Given the description of an element on the screen output the (x, y) to click on. 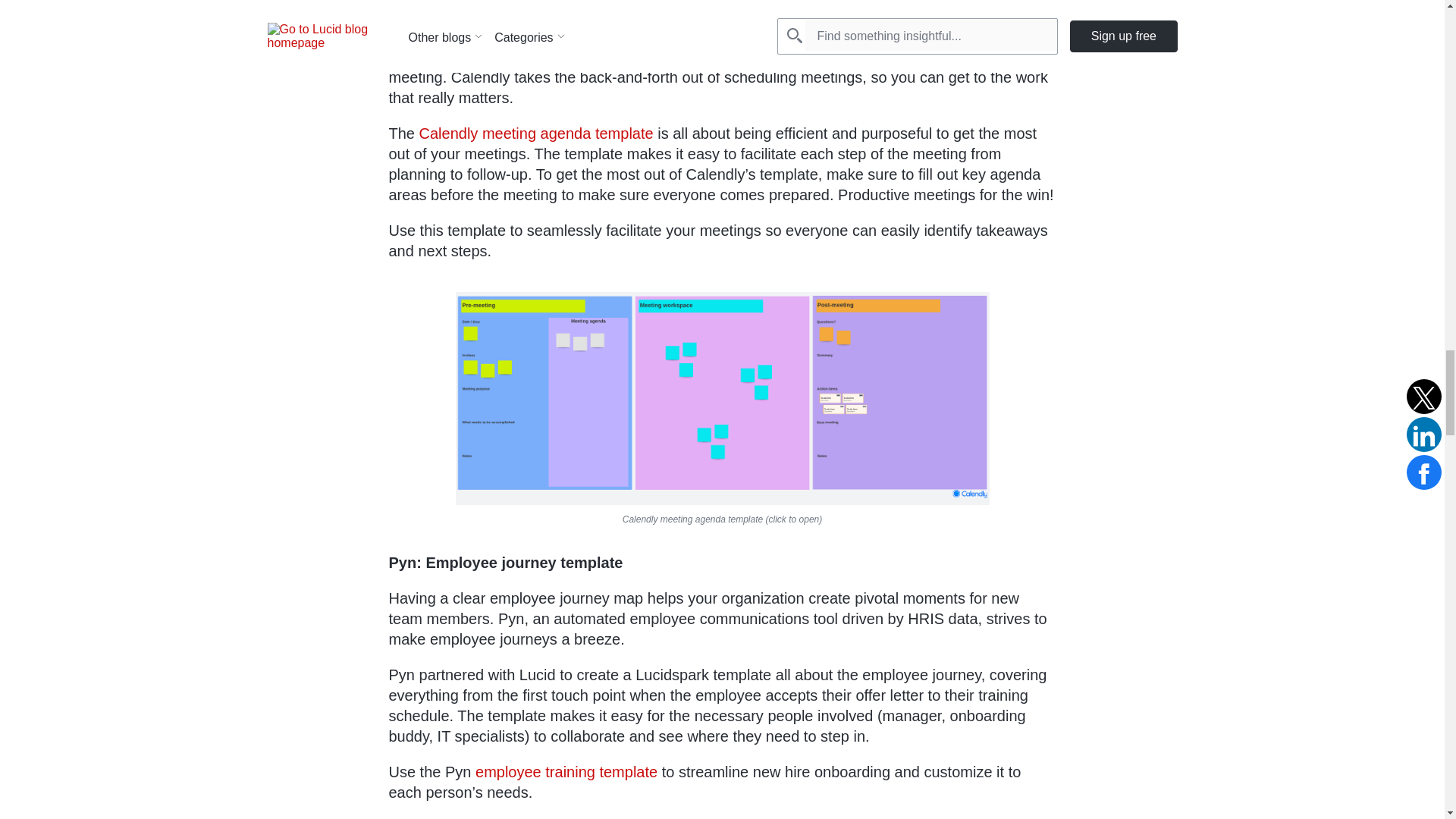
Calendly meeting agenda template (536, 133)
employee training template (567, 771)
Image link (721, 399)
